Given the description of an element on the screen output the (x, y) to click on. 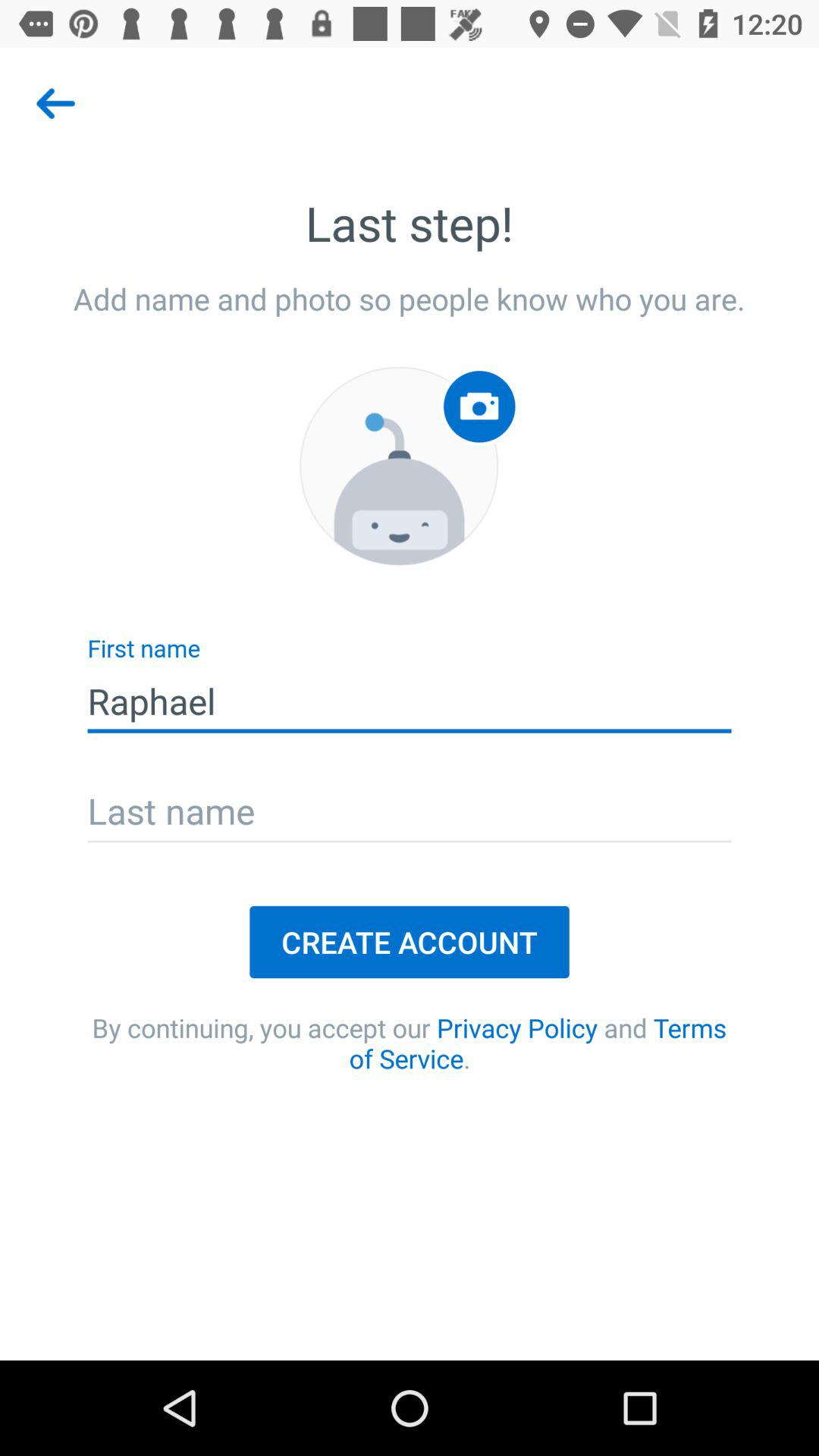
launch the create account item (409, 942)
